Given the description of an element on the screen output the (x, y) to click on. 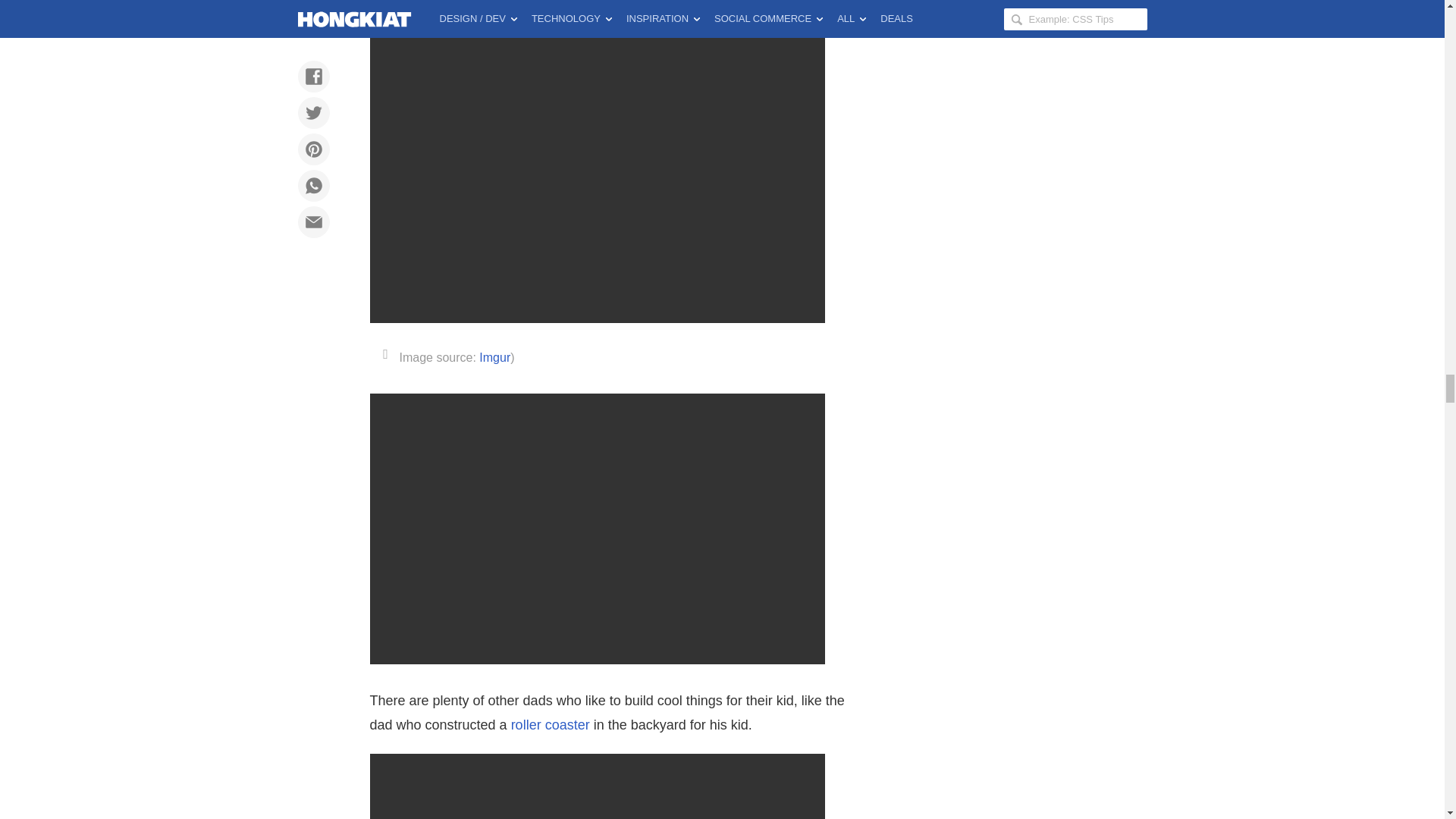
Imgur (495, 357)
roller coaster (550, 724)
